Given the description of an element on the screen output the (x, y) to click on. 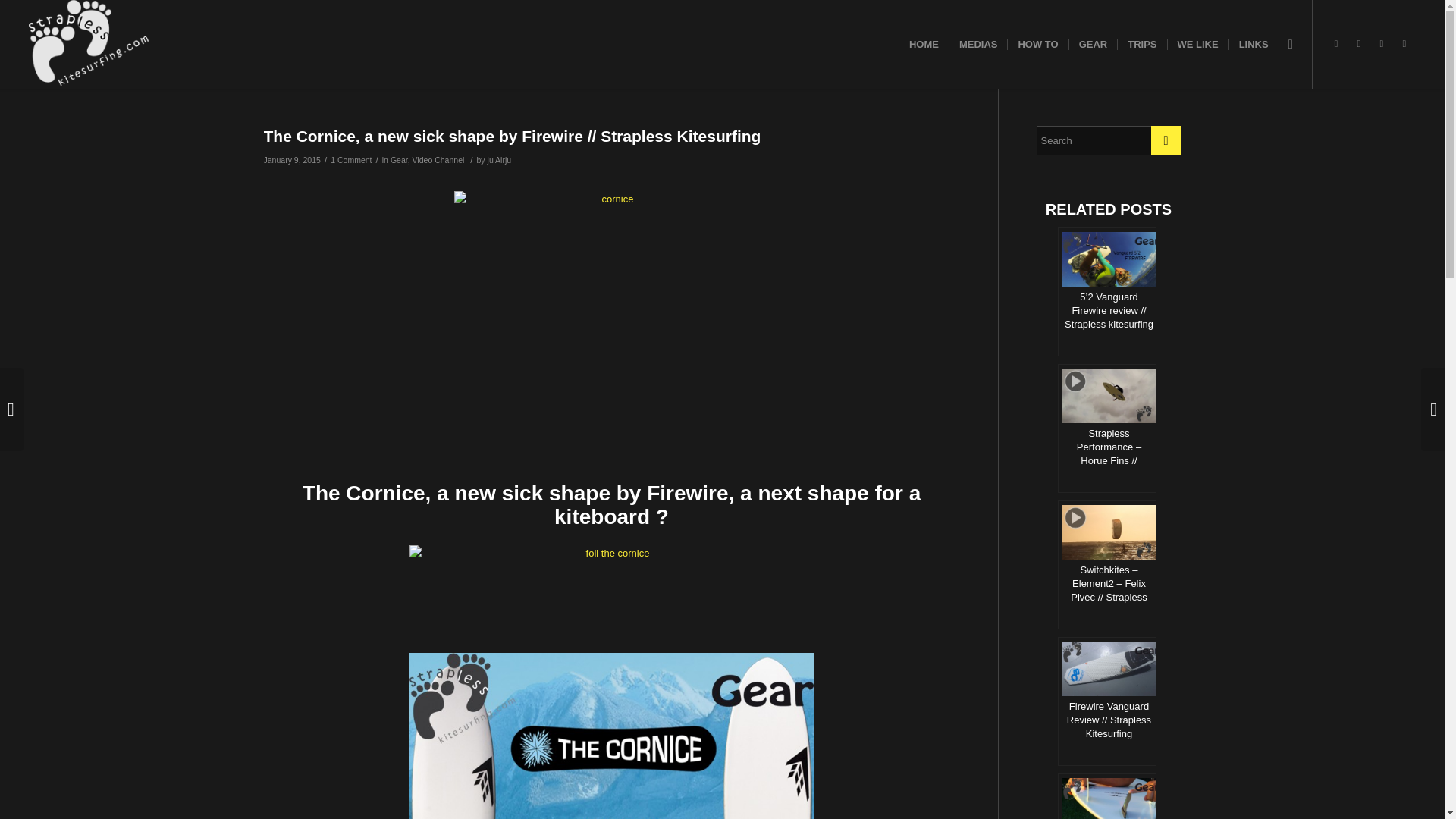
Vimeo (1359, 43)
Facebook (1336, 43)
Youtube (1381, 43)
Posts by ju Airju (499, 159)
Rss (1404, 43)
